Given the description of an element on the screen output the (x, y) to click on. 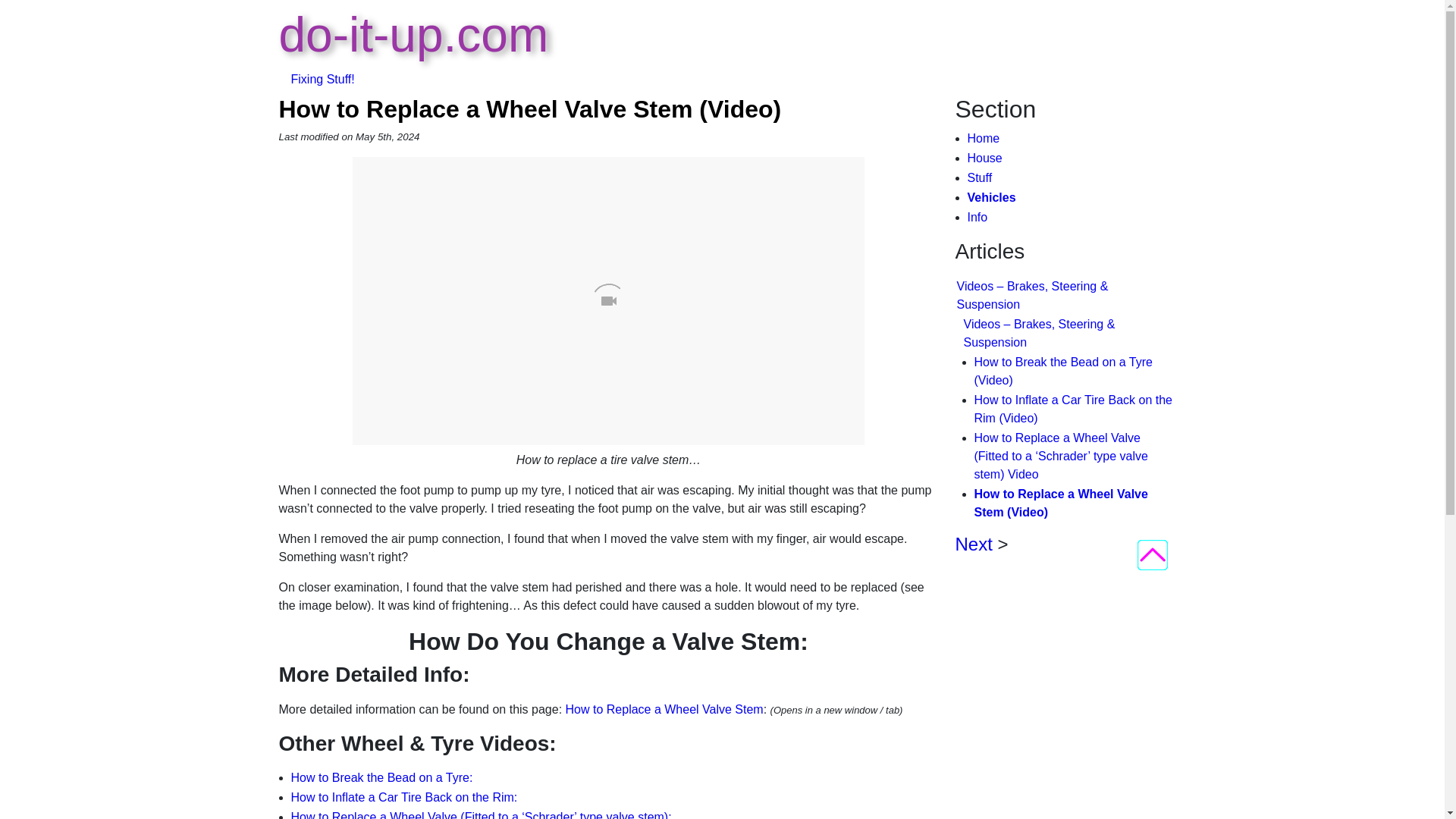
House (985, 157)
Info (413, 46)
How to Replace a Wheel Valve Stem (978, 216)
Home (664, 708)
Vehicles (984, 137)
How to Break the Bead on a Tyre: (992, 196)
Next (382, 777)
How to Inflate a Car Tire Back on the Rim: (973, 543)
Stuff (404, 797)
